Given the description of an element on the screen output the (x, y) to click on. 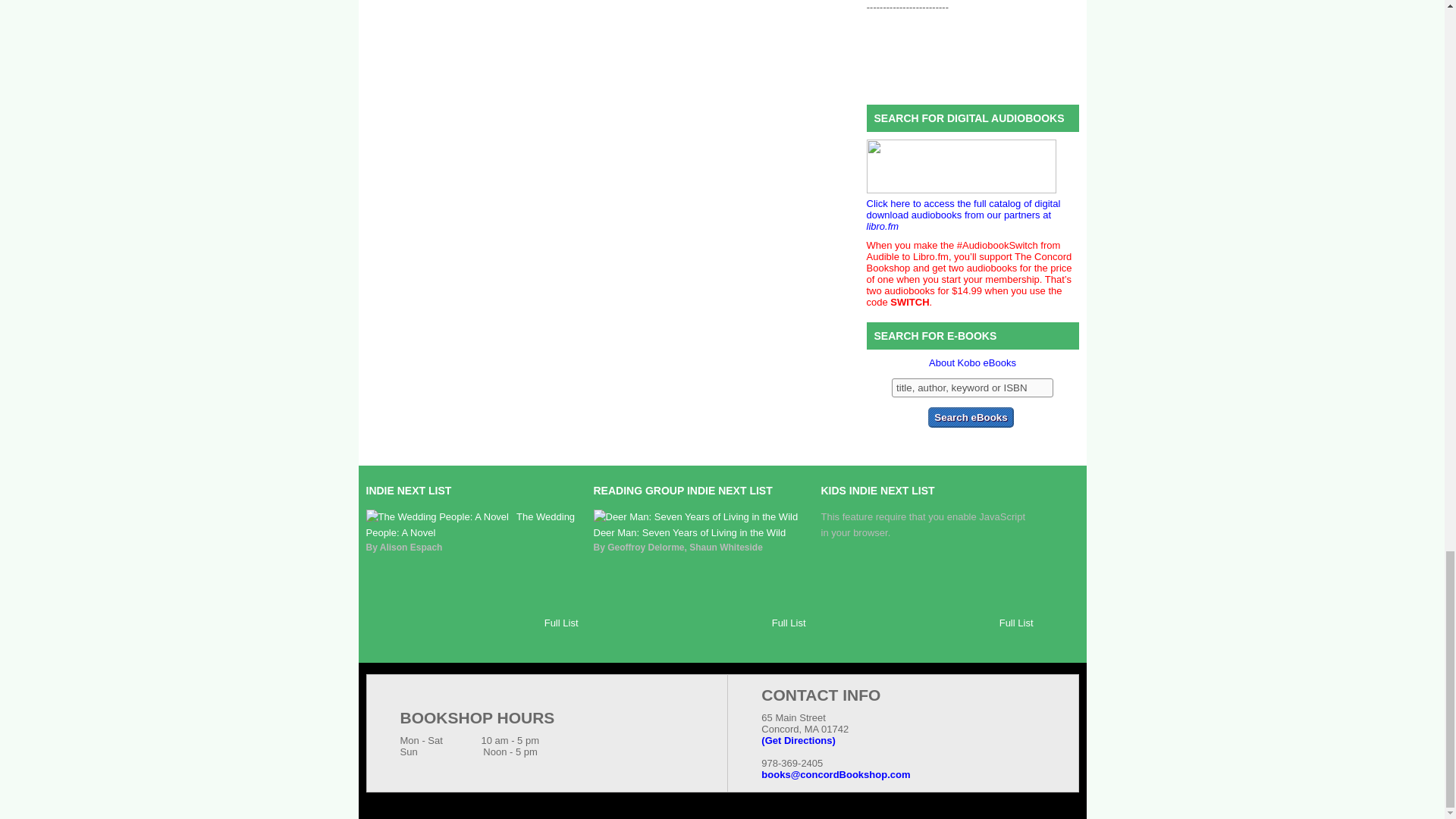
Search eBooks (970, 417)
The Wedding People: A Novel - by Alison Espach (470, 524)
title, author, keyword or ISBN (971, 387)
The Wedding People: A Novel - by Alison Espach (436, 516)
Enter title, author, keyword or ISBN. (971, 387)
